Given the description of an element on the screen output the (x, y) to click on. 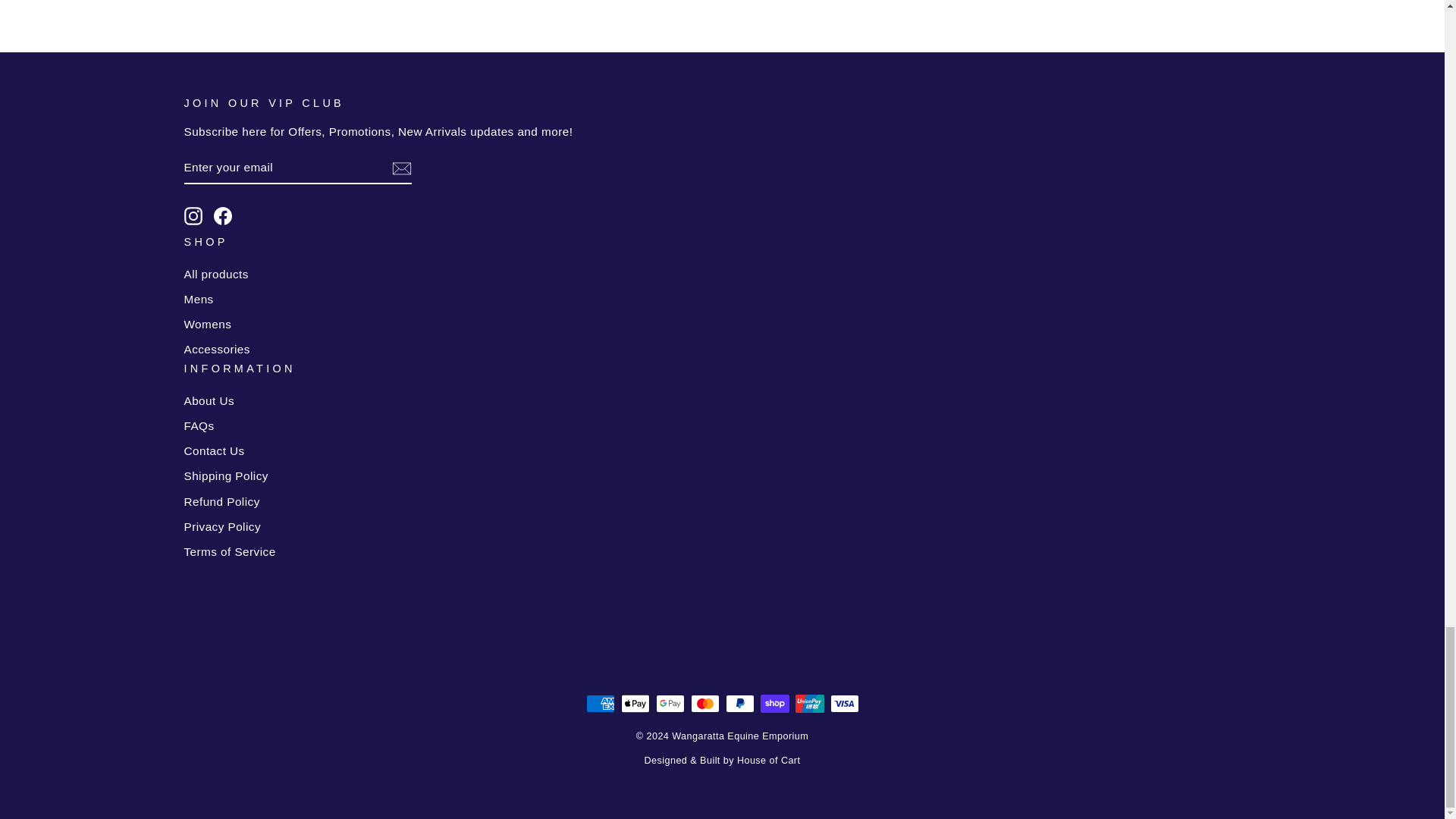
Wangaratta Equine Emporium on Facebook (222, 216)
instagram (192, 216)
American Express (599, 703)
Apple Pay (634, 703)
Wangaratta Equine Emporium on Instagram (192, 216)
icon-email (400, 167)
